Given the description of an element on the screen output the (x, y) to click on. 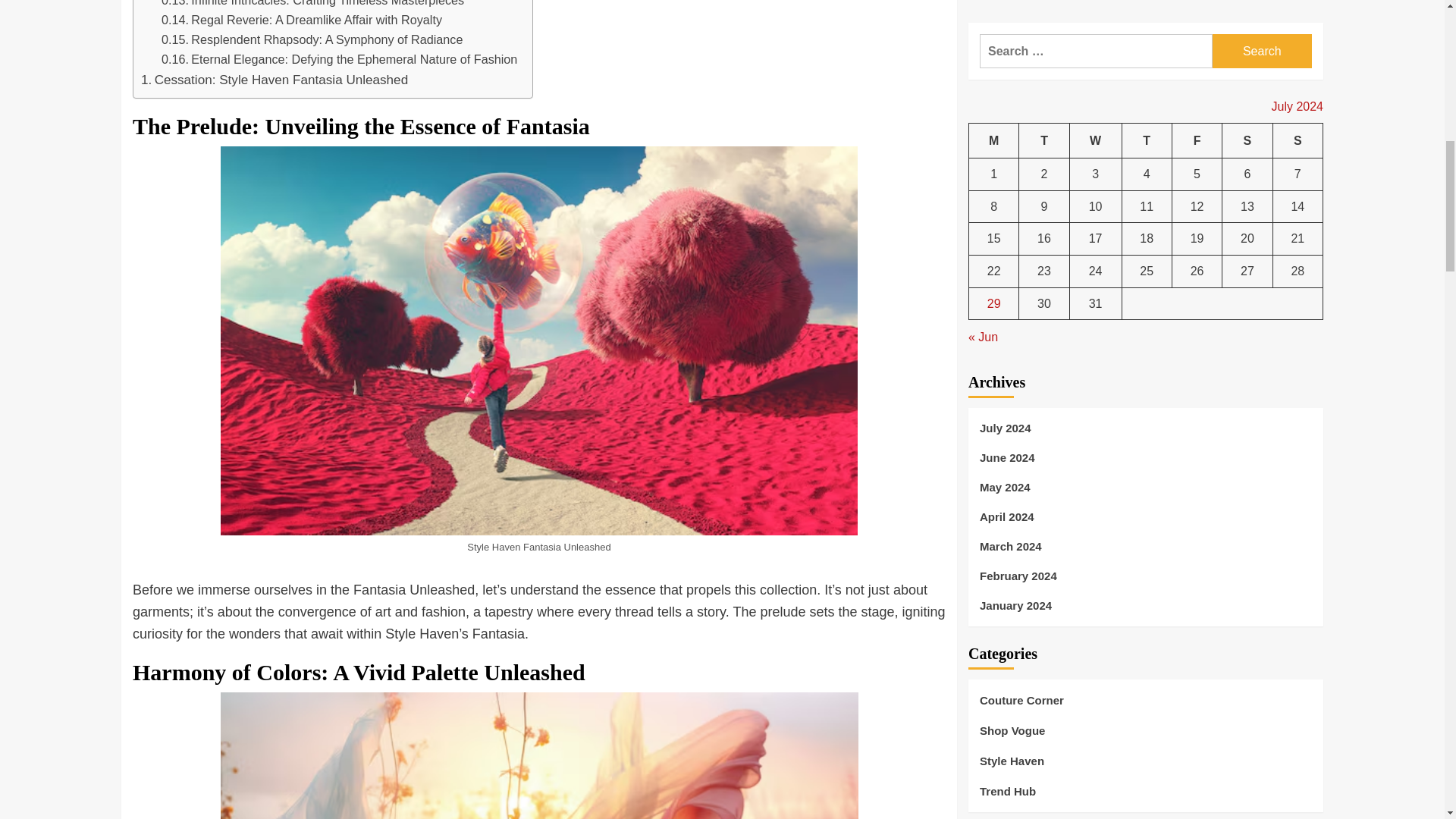
Resplendent Rhapsody: A Symphony of Radiance (312, 39)
Regal Reverie: A Dreamlike Affair with Royalty (301, 20)
Regal Reverie: A Dreamlike Affair with Royalty (301, 20)
Eternal Elegance: Defying the Ephemeral Nature of Fashion (338, 59)
Infinite Intricacies: Crafting Timeless Masterpieces (312, 5)
Cessation: Style Haven Fantasia Unleashed (274, 79)
Infinite Intricacies: Crafting Timeless Masterpieces (312, 5)
